Given the description of an element on the screen output the (x, y) to click on. 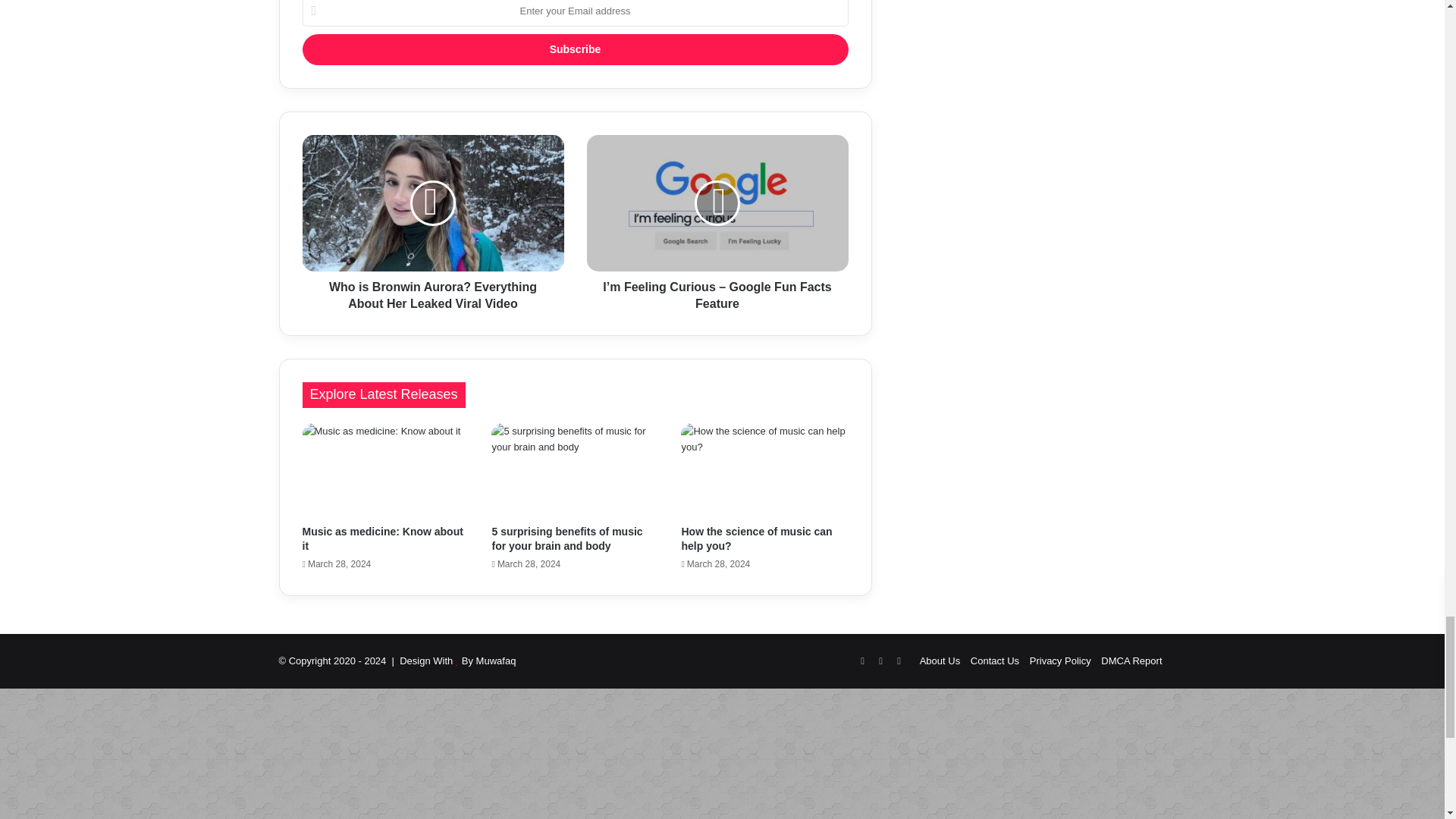
Subscribe (574, 49)
